Given the description of an element on the screen output the (x, y) to click on. 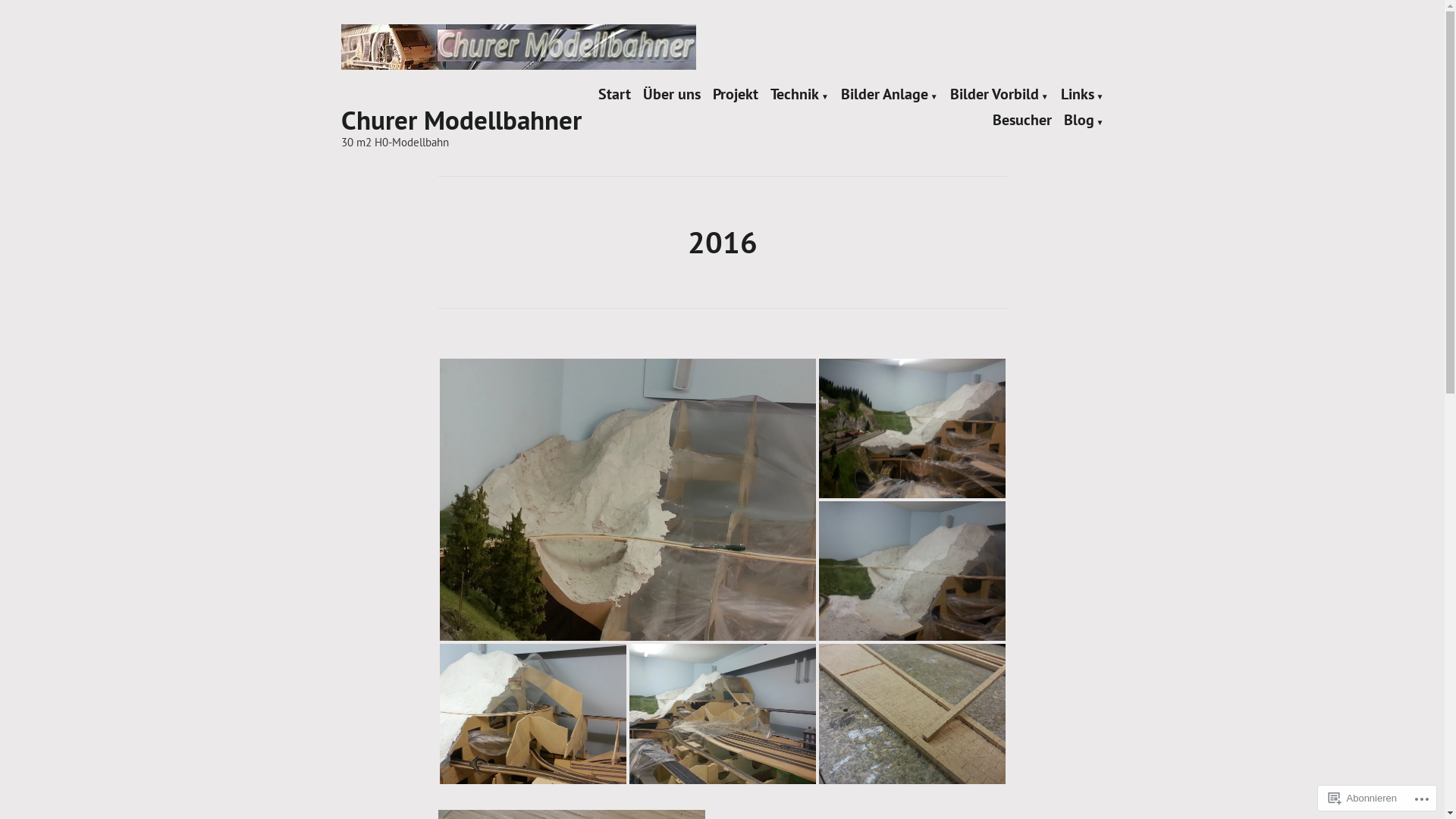
Churer Modellbahner Element type: text (461, 119)
Technik Element type: text (799, 94)
Projekt Element type: text (735, 94)
Links Element type: text (1082, 94)
2016_1 Element type: hover (627, 499)
2016_3 Element type: hover (912, 570)
2016_2 Element type: hover (912, 428)
Bilder Anlage Element type: text (889, 94)
Abonnieren Element type: text (1362, 797)
Bilder Vorbild Element type: text (999, 94)
2016_4 Element type: hover (532, 713)
Besucher Element type: text (1021, 120)
2016_7 Element type: hover (912, 713)
2016_5 Element type: hover (722, 713)
Blog Element type: text (1083, 120)
Start Element type: text (614, 94)
